Given the description of an element on the screen output the (x, y) to click on. 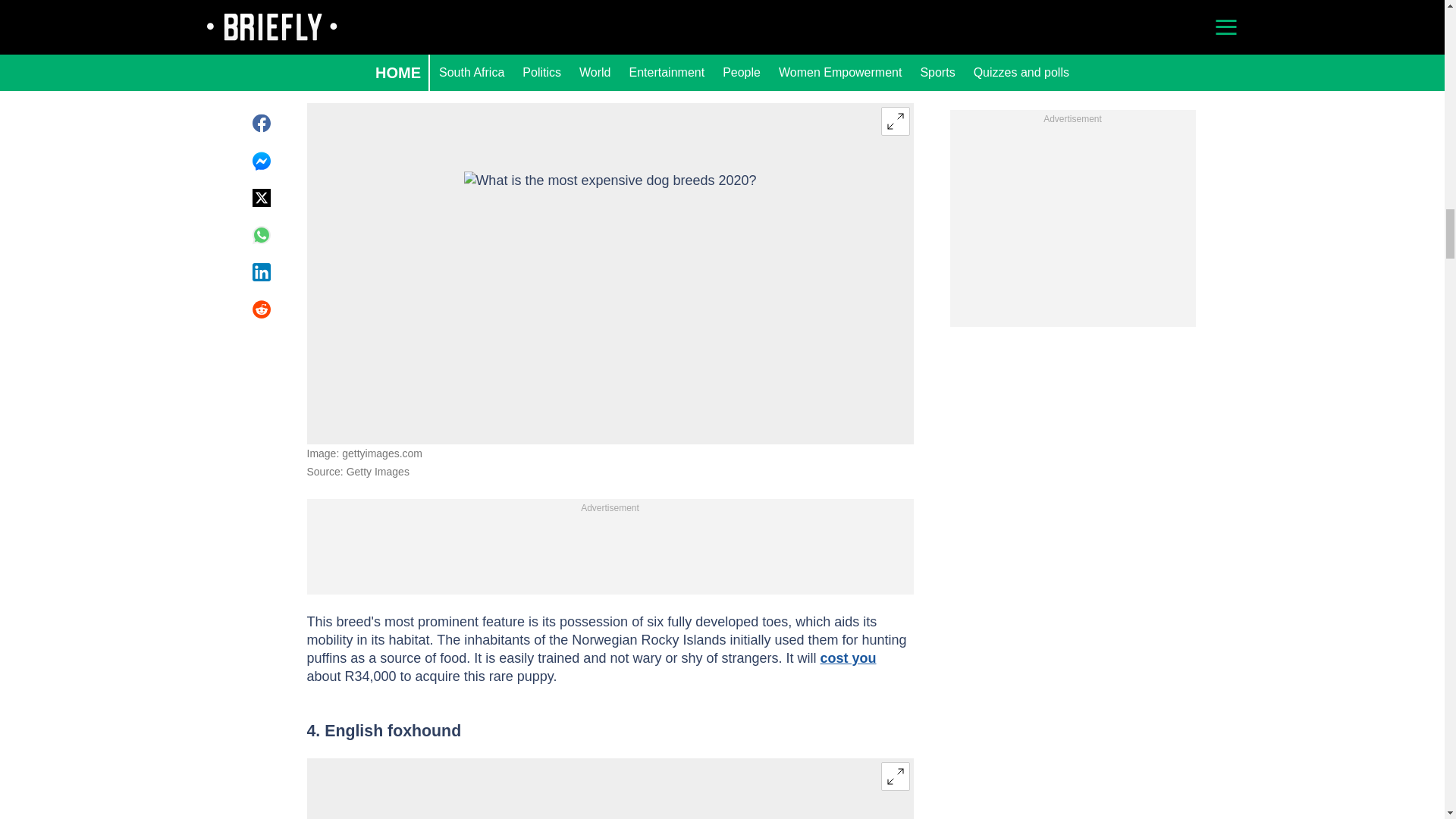
What is the most expensive dog breeds 2020? (609, 273)
Expand image (895, 121)
Expand image (895, 776)
